Given the description of an element on the screen output the (x, y) to click on. 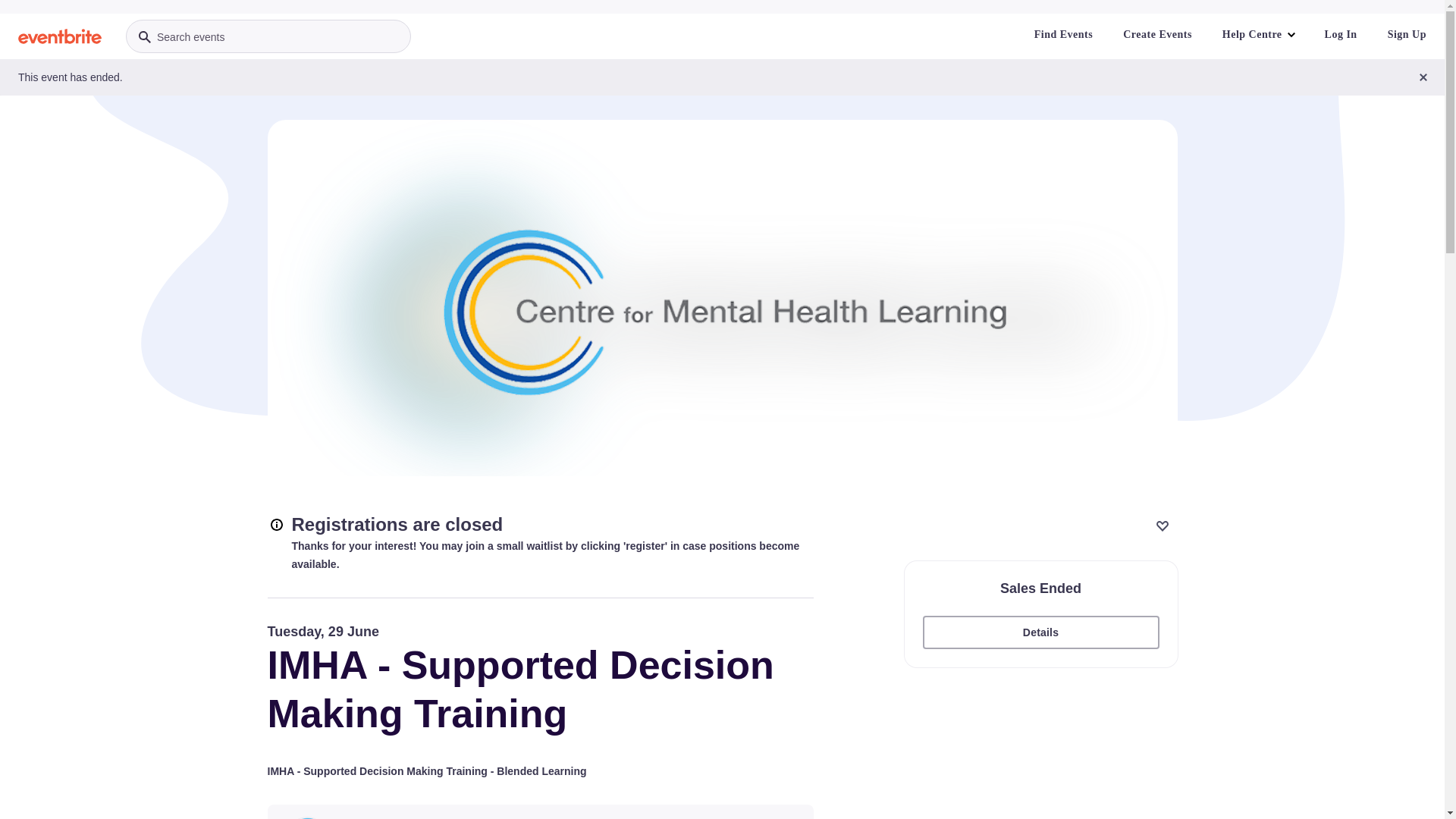
Create Events Element type: text (1157, 34)
Search events Element type: text (268, 36)
Details Element type: text (1040, 632)
Log In Element type: text (1340, 34)
Sign Up Element type: text (1406, 34)
Eventbrite Element type: hover (59, 35)
Find Events Element type: text (1063, 34)
